Given the description of an element on the screen output the (x, y) to click on. 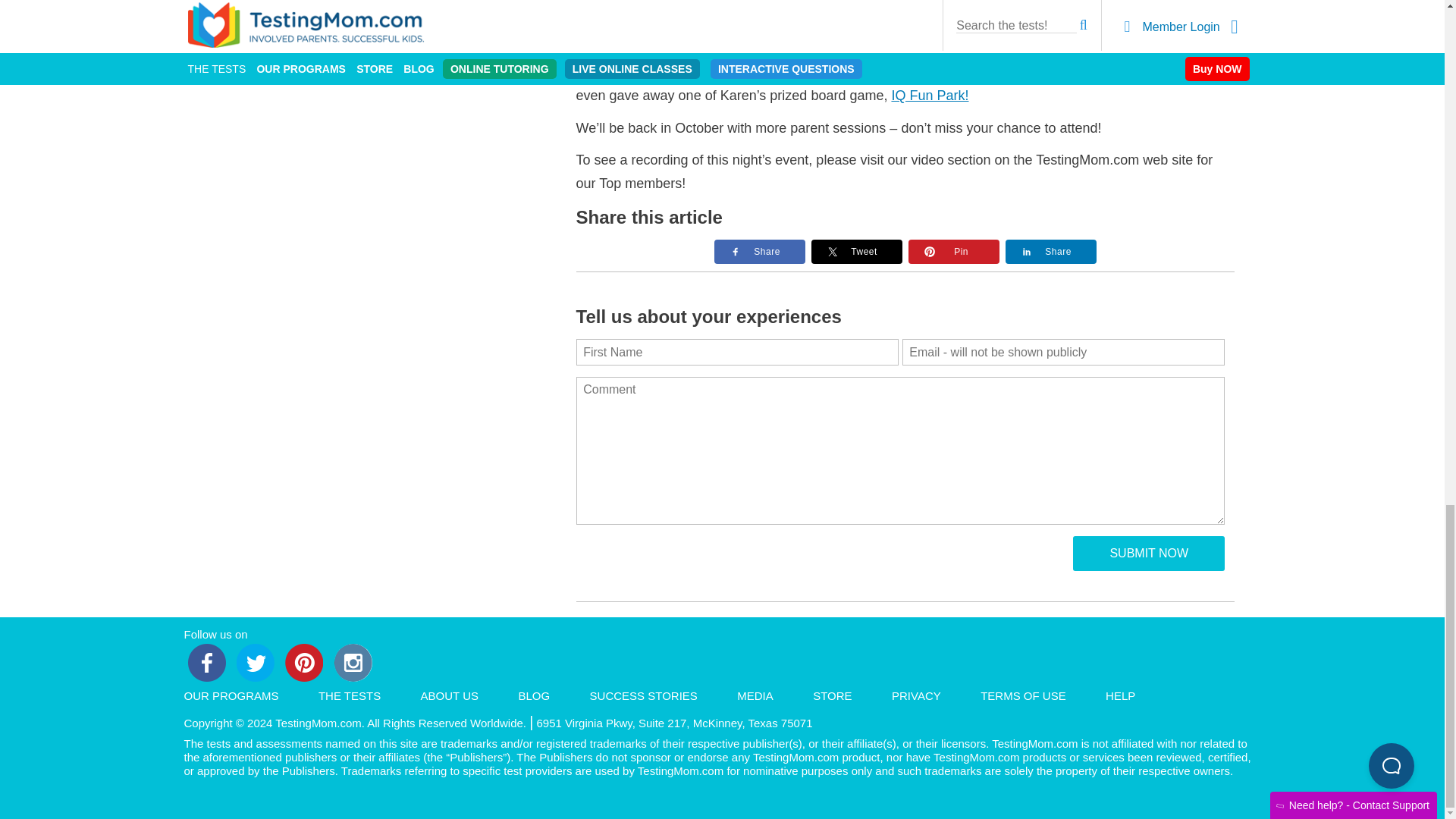
SUBMIT NOW (1148, 553)
